Given the description of an element on the screen output the (x, y) to click on. 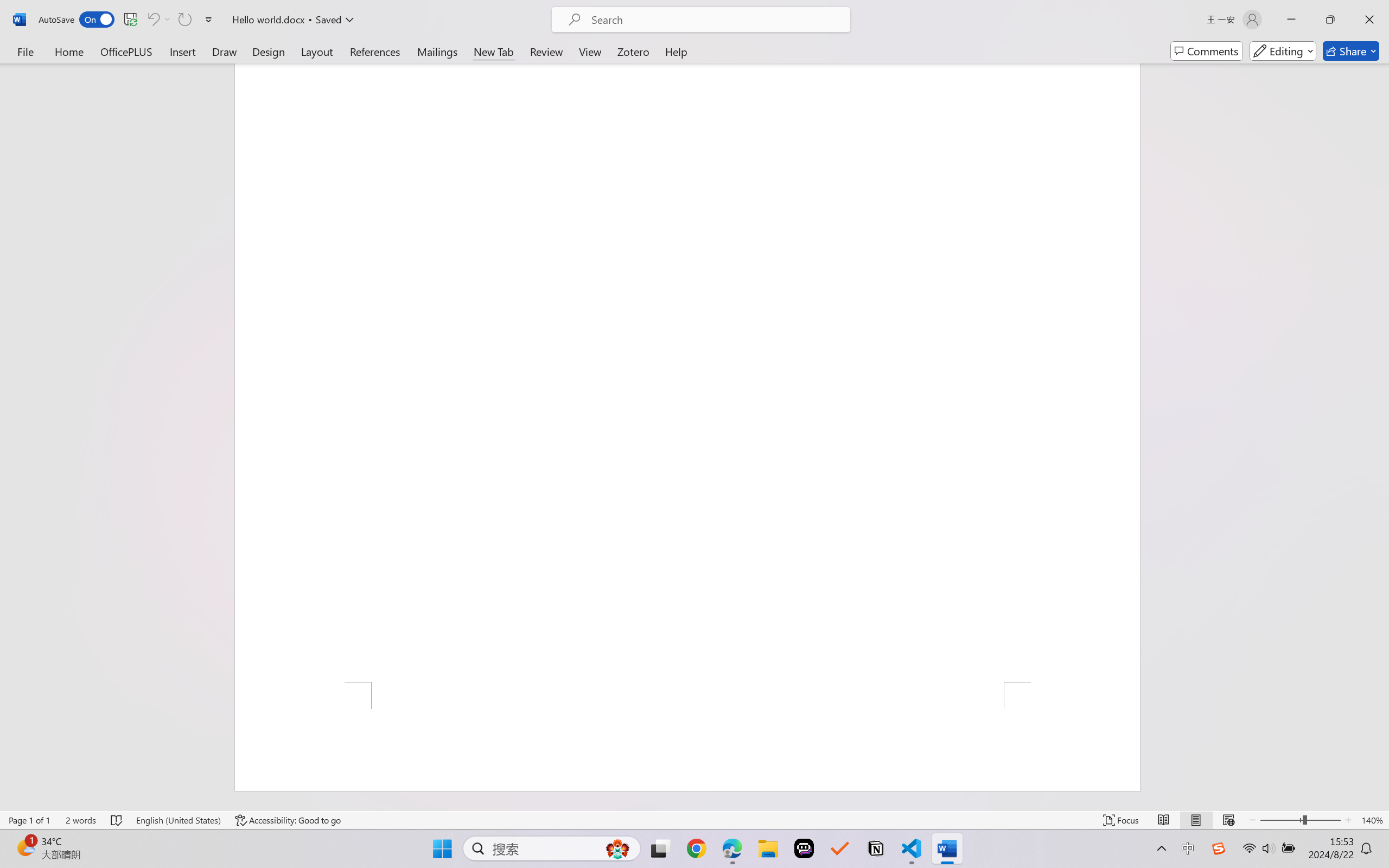
AutomationID: BadgeAnchorLargeTicker (24, 847)
More Options (167, 19)
Save (130, 19)
Insert (182, 51)
Zoom 140% (1372, 819)
OfficePLUS (126, 51)
Can't Undo (152, 19)
AutoSave (76, 19)
Customize Quick Access Toolbar (208, 19)
Page Number Page 1 of 1 (29, 819)
Page 1 content (687, 372)
Help (675, 51)
Mode (1283, 50)
Web Layout (1228, 819)
